Given the description of an element on the screen output the (x, y) to click on. 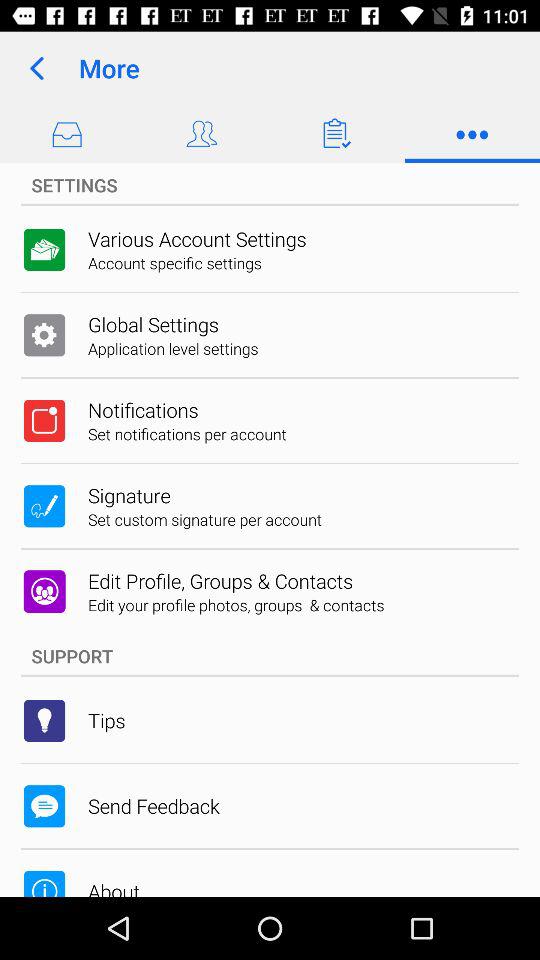
jump to tips (106, 720)
